Given the description of an element on the screen output the (x, y) to click on. 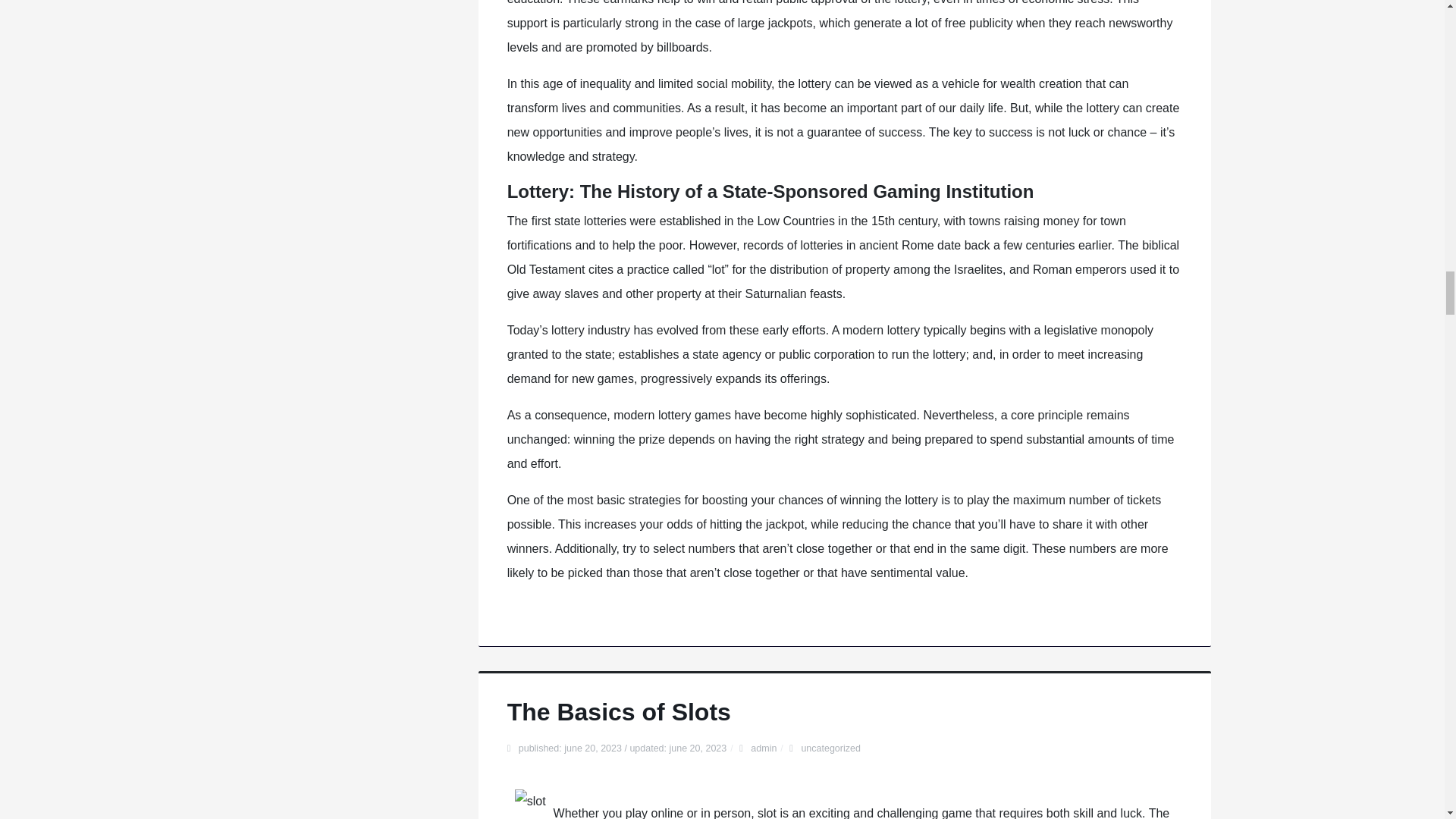
admin (763, 747)
uncategorized (830, 747)
The Basics of Slots (618, 711)
